Given the description of an element on the screen output the (x, y) to click on. 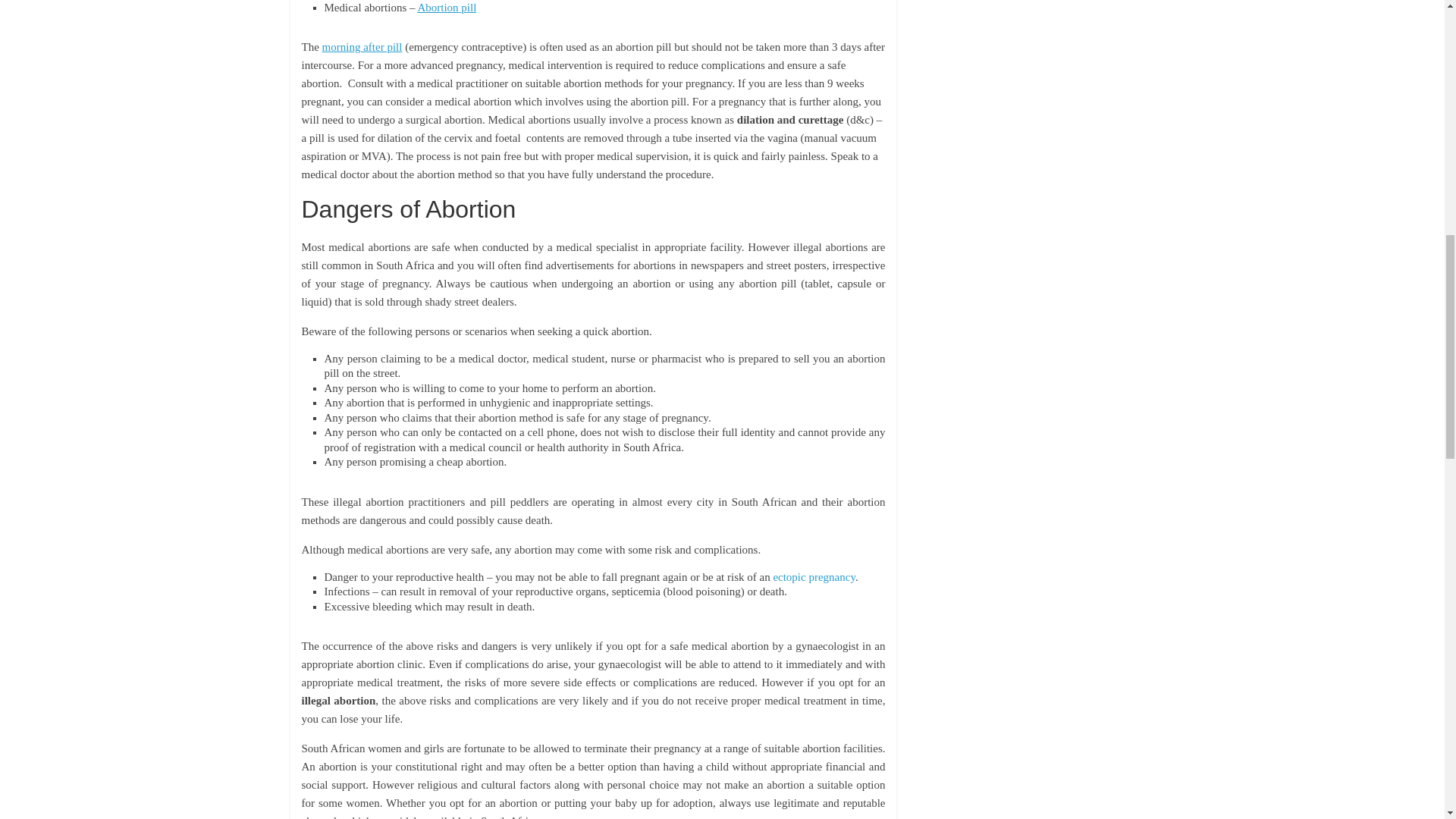
abortion pill (446, 7)
Abortion pill (446, 7)
Ectopic Pregnancy (814, 576)
ectopic pregnancy (814, 576)
Morning After Pill (362, 46)
morning after pill (362, 46)
